Given the description of an element on the screen output the (x, y) to click on. 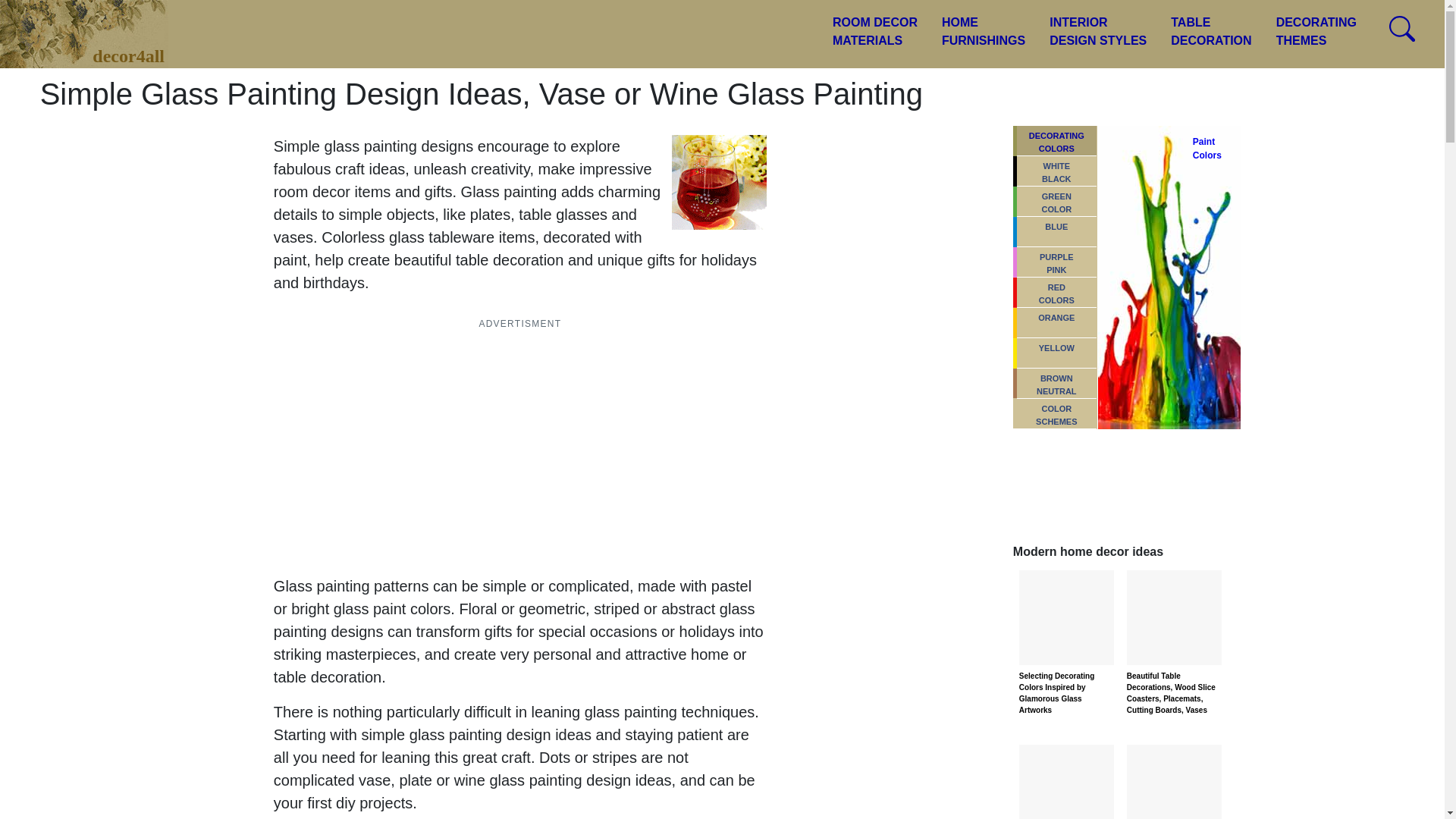
DECORATING COLORS (1315, 31)
decor4all (983, 31)
